Given the description of an element on the screen output the (x, y) to click on. 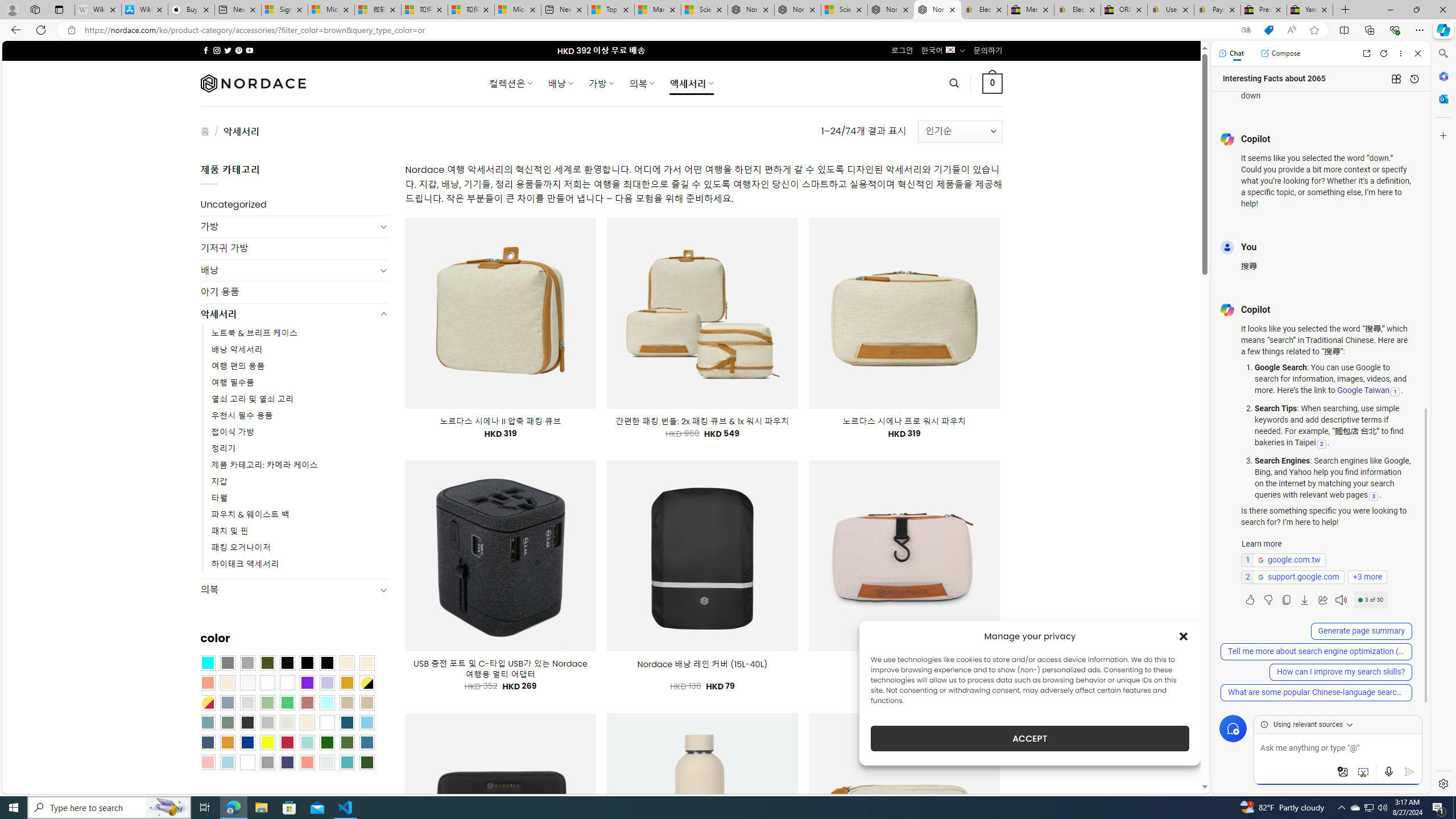
 0  (992, 83)
